Given the description of an element on the screen output the (x, y) to click on. 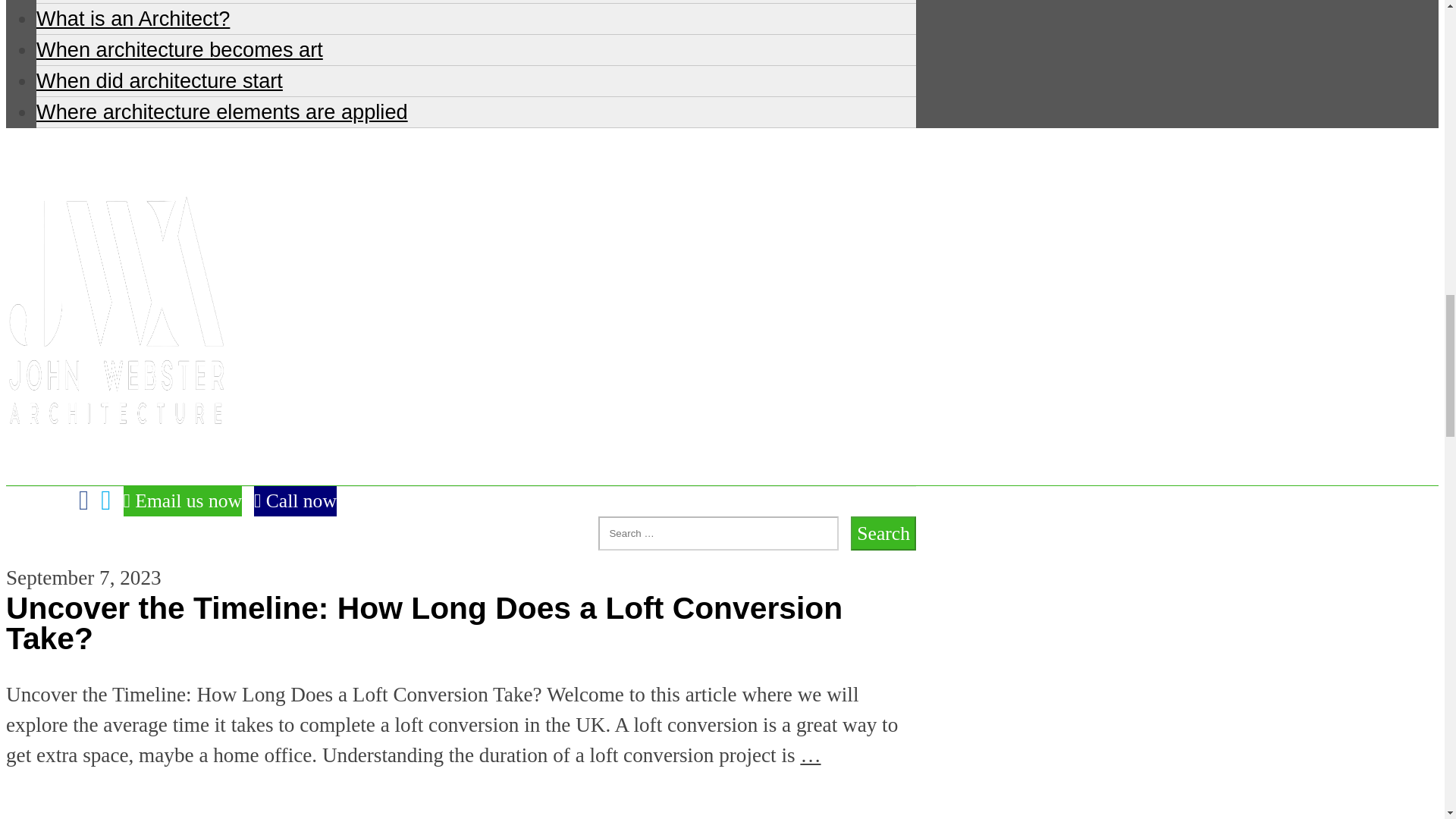
Search (882, 533)
Search (882, 533)
Go to homepage (115, 469)
